Given the description of an element on the screen output the (x, y) to click on. 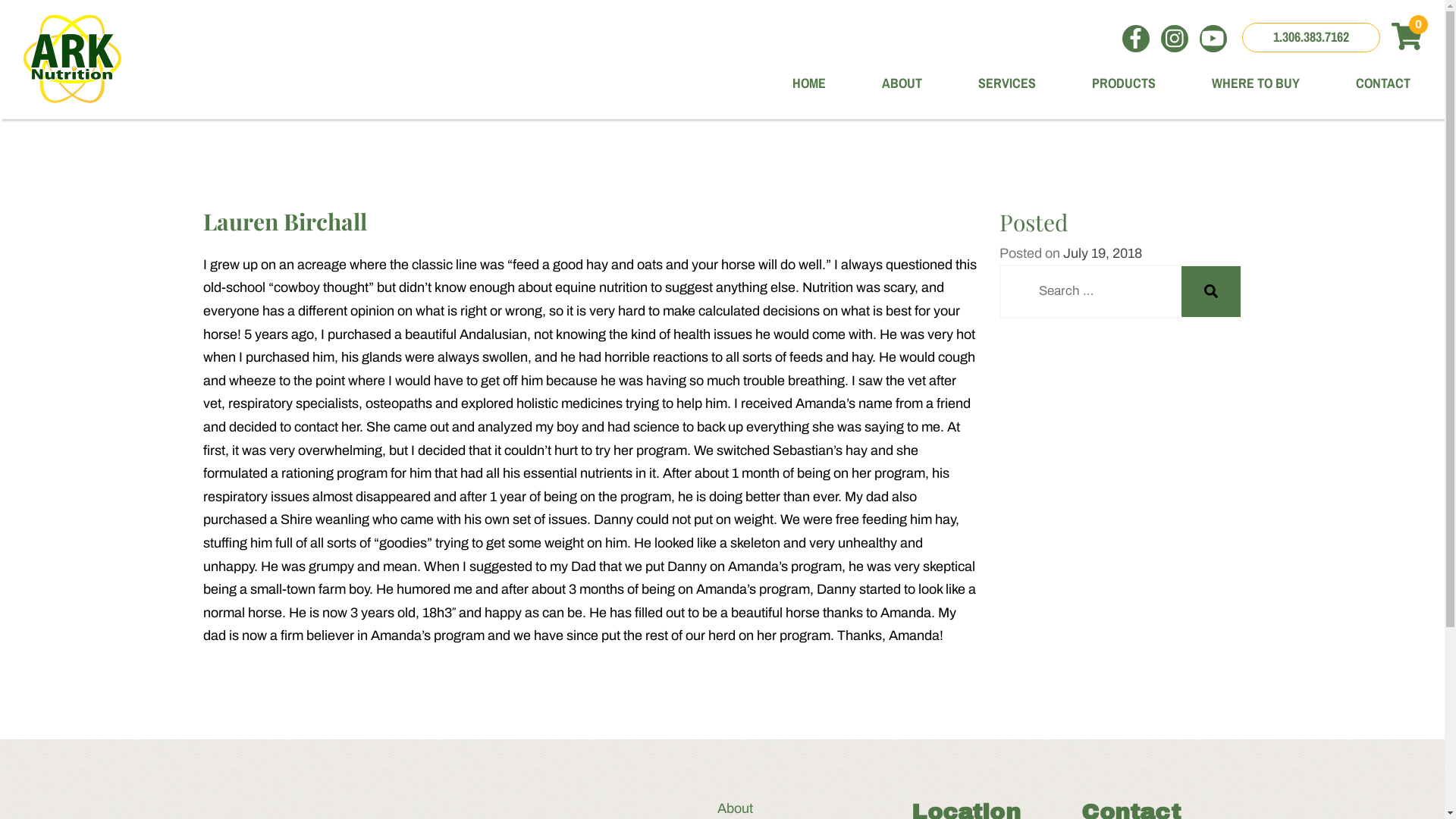
PRODUCTS Element type: text (1104, 83)
1.306.383.7162 Element type: text (1311, 37)
ABOUT Element type: text (882, 83)
WHERE TO BUY Element type: text (1236, 83)
HOME Element type: text (789, 83)
SERVICES Element type: text (987, 83)
CONTACT Element type: text (1363, 83)
About Element type: text (758, 808)
July 19, 2018 Element type: text (1102, 252)
0 Element type: text (1405, 37)
